Given the description of an element on the screen output the (x, y) to click on. 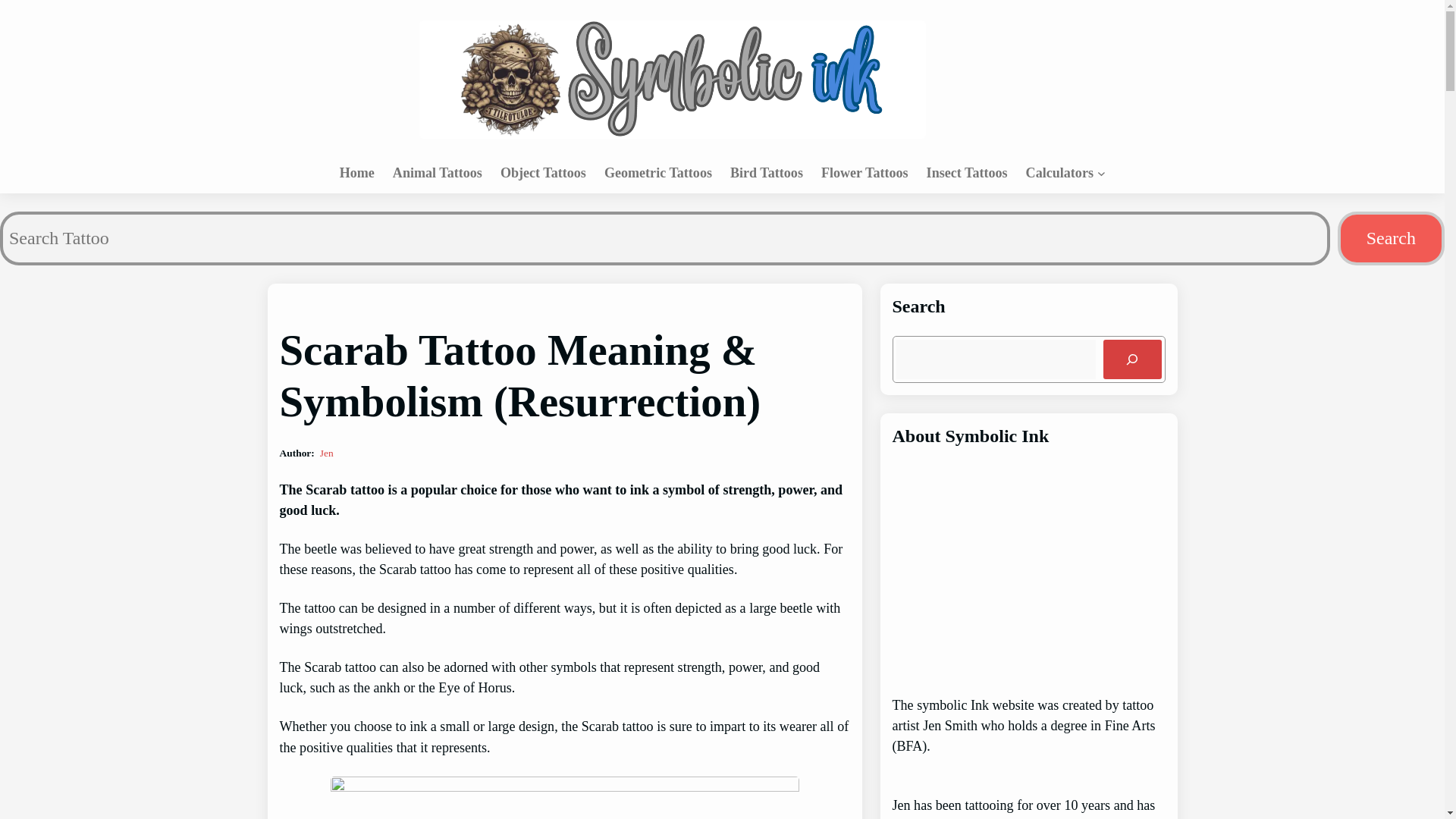
Calculators (1059, 172)
Jen (326, 452)
Home (356, 172)
Flower Tattoos (864, 172)
Geometric Tattoos (657, 172)
Insect Tattoos (966, 172)
Animal Tattoos (437, 172)
Object Tattoos (543, 172)
Bird Tattoos (766, 172)
